Given the description of an element on the screen output the (x, y) to click on. 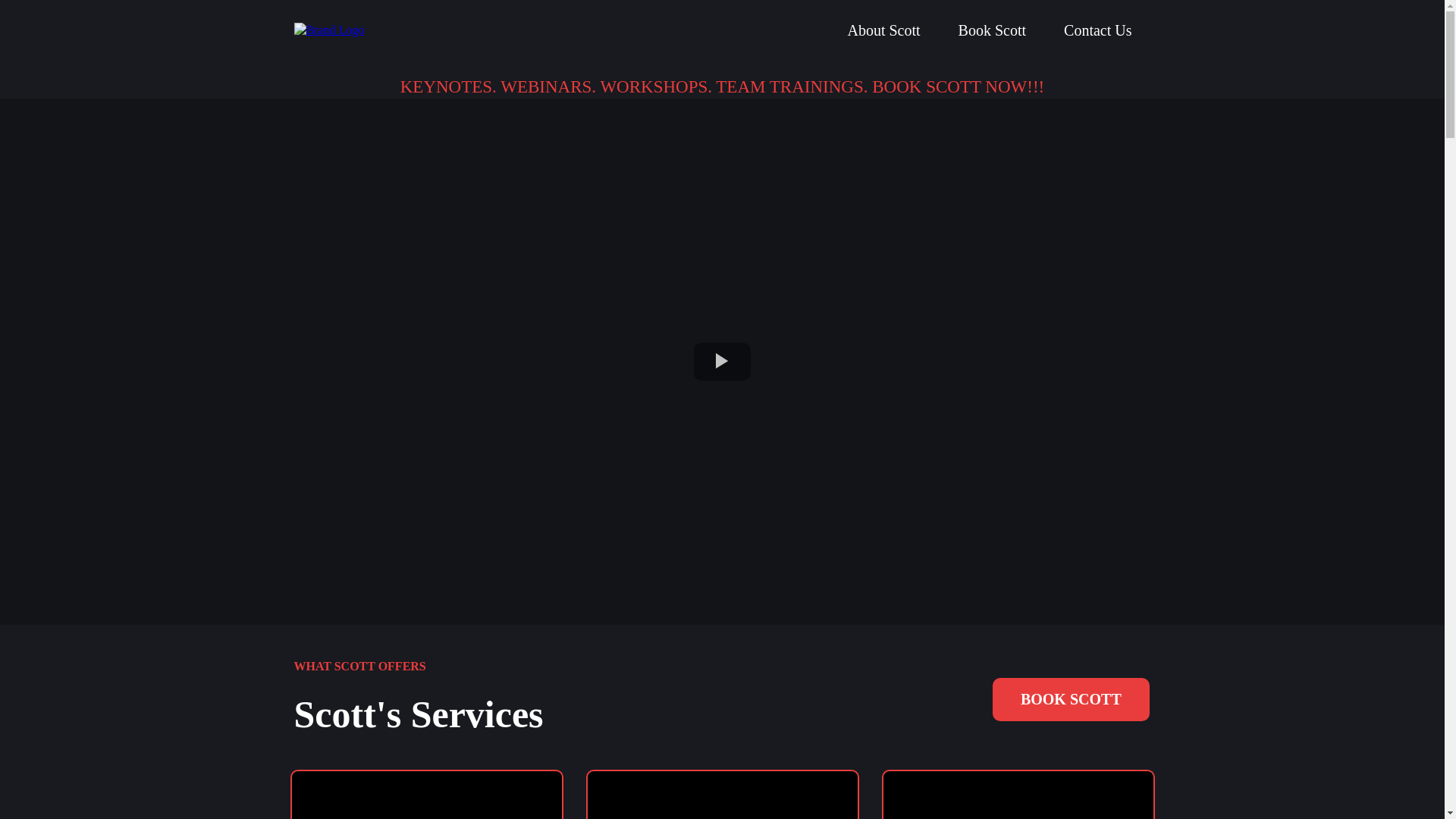
Contact Us (1097, 30)
Book Scott (992, 30)
About Scott (883, 30)
BOOK SCOTT (1071, 699)
